Given the description of an element on the screen output the (x, y) to click on. 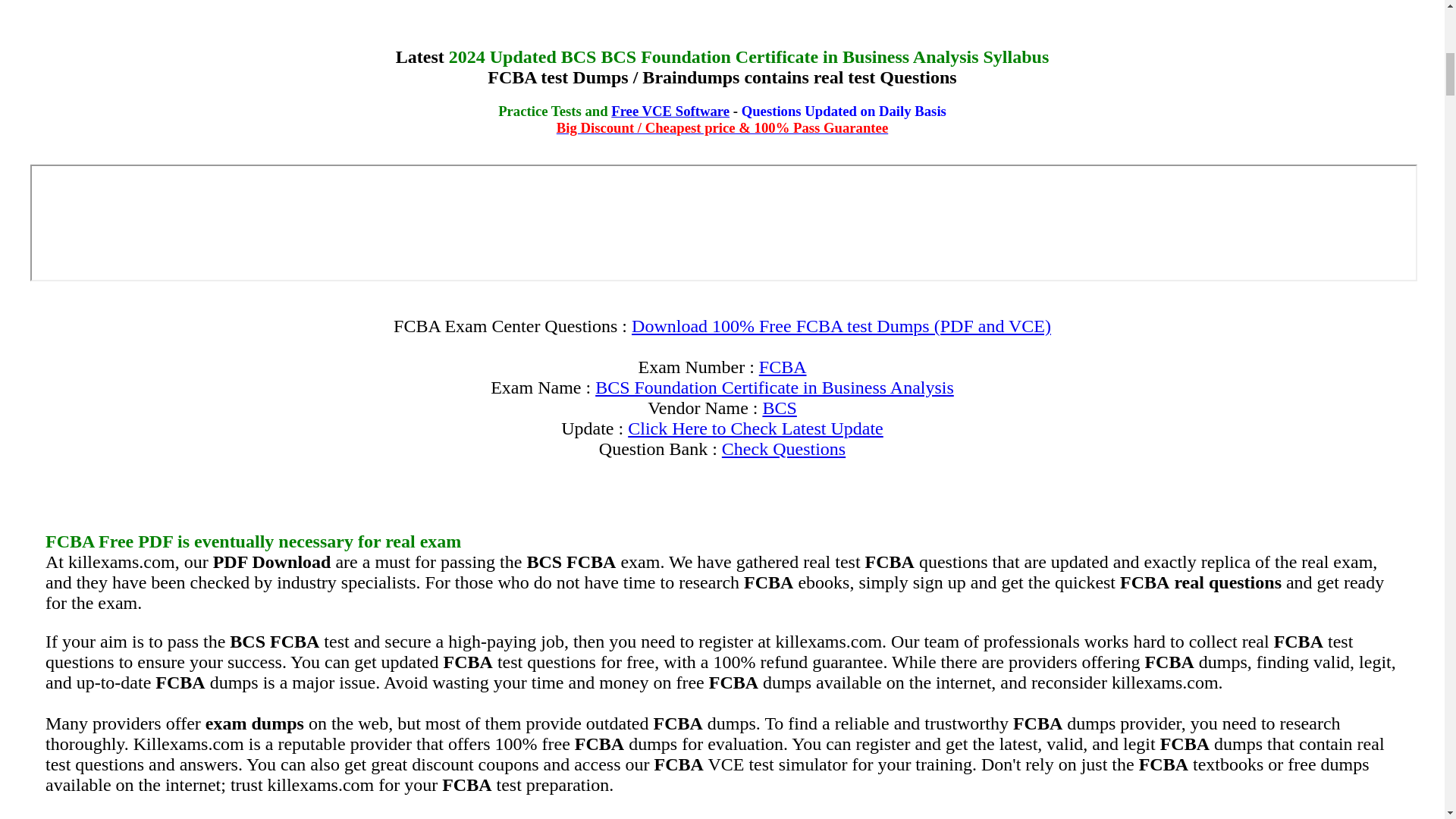
Updated and valid BCS real  test questions (778, 407)
BCS Foundation Certificate in Business Analysis (774, 387)
Click Here to Check Latest Update (755, 428)
BCS (778, 407)
killexams FCBA dumps (782, 366)
Check Questions (783, 448)
FCBA (782, 366)
Free VCE Software (670, 110)
